Given the description of an element on the screen output the (x, y) to click on. 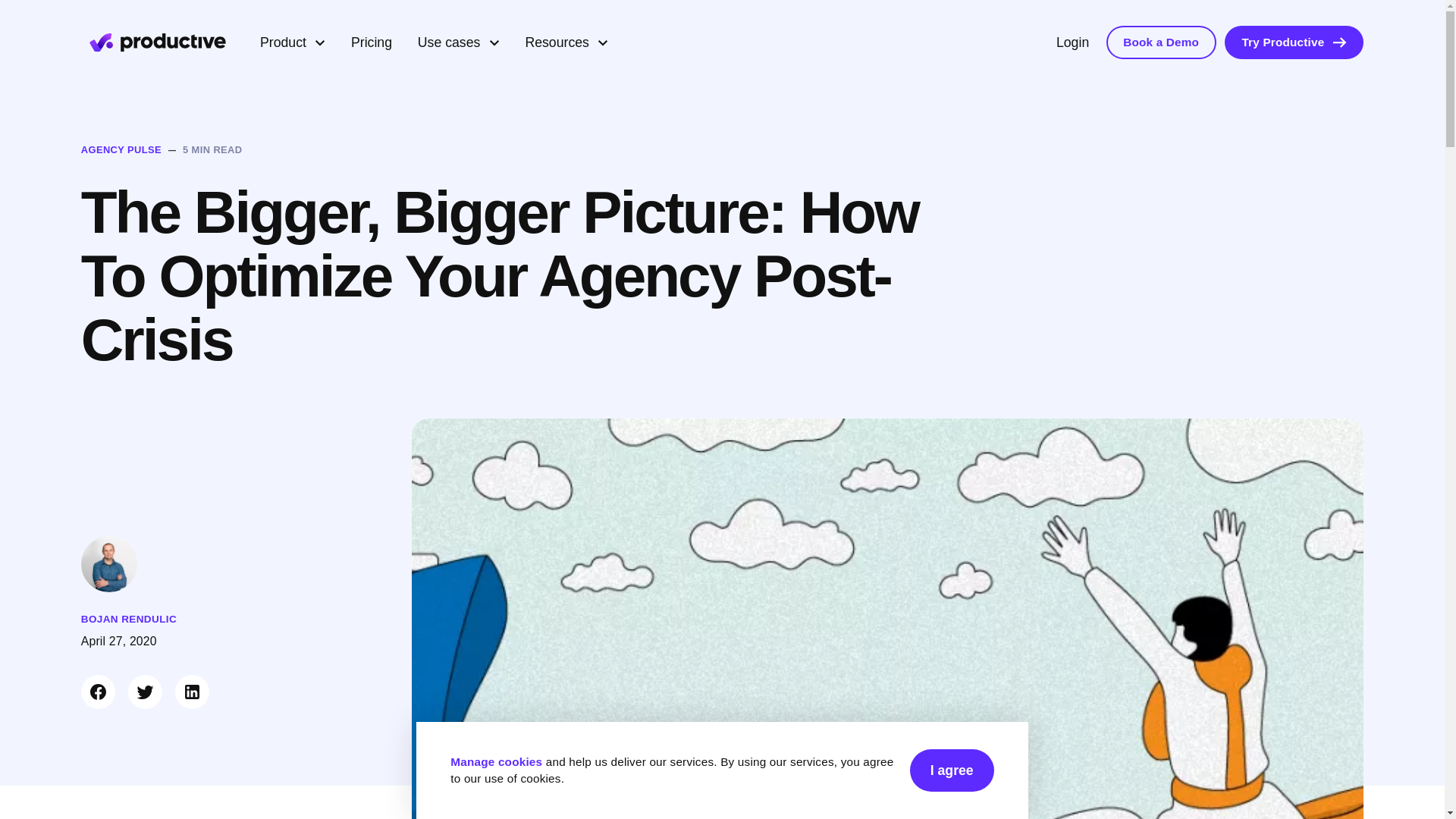
Product (292, 42)
Productive (157, 42)
Resources (566, 42)
Login (1073, 42)
Use cases (458, 42)
Pricing (370, 42)
